Given the description of an element on the screen output the (x, y) to click on. 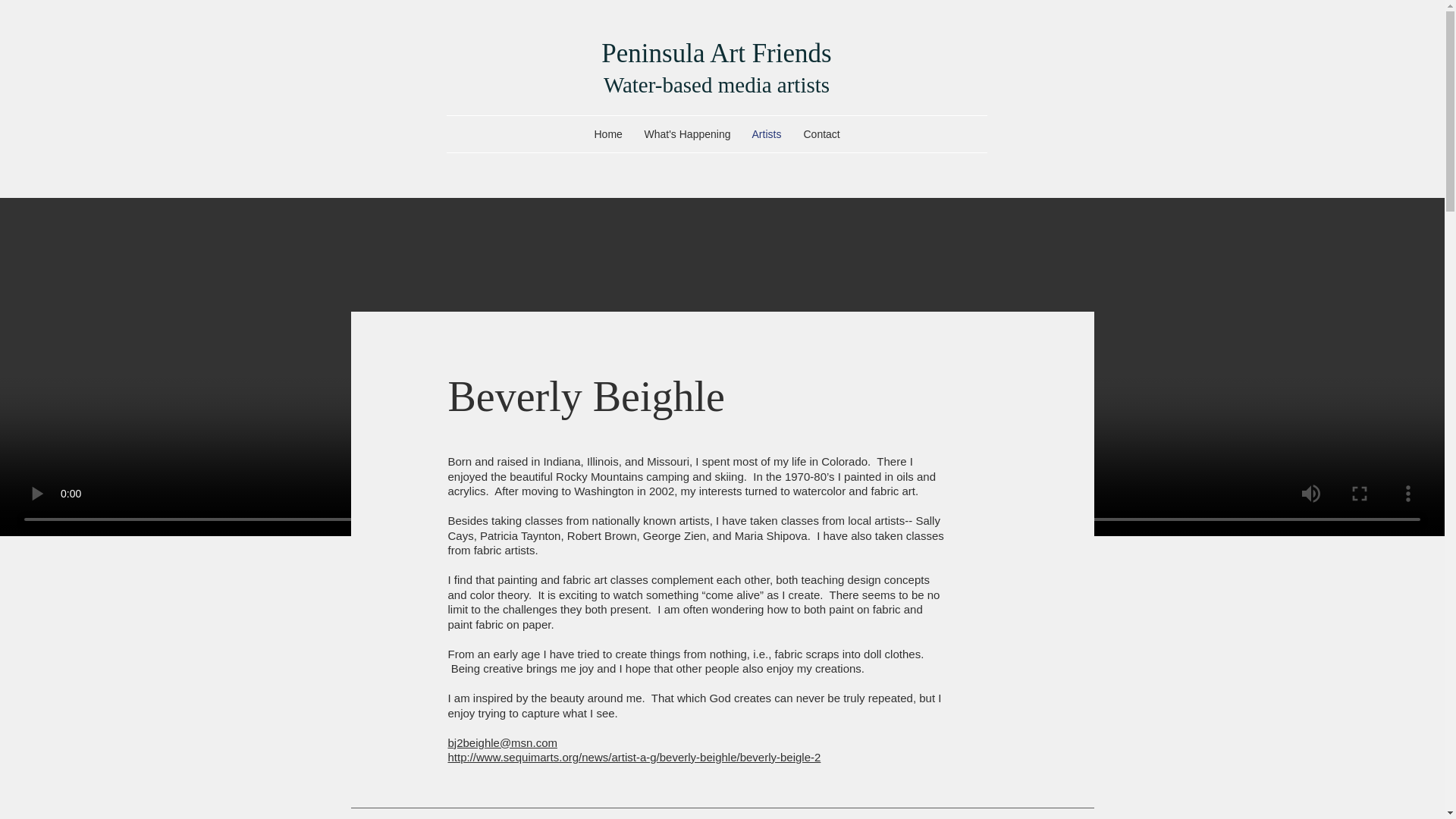
Artists (765, 134)
Home (606, 134)
Contact (821, 134)
What's Happening (685, 134)
